Given the description of an element on the screen output the (x, y) to click on. 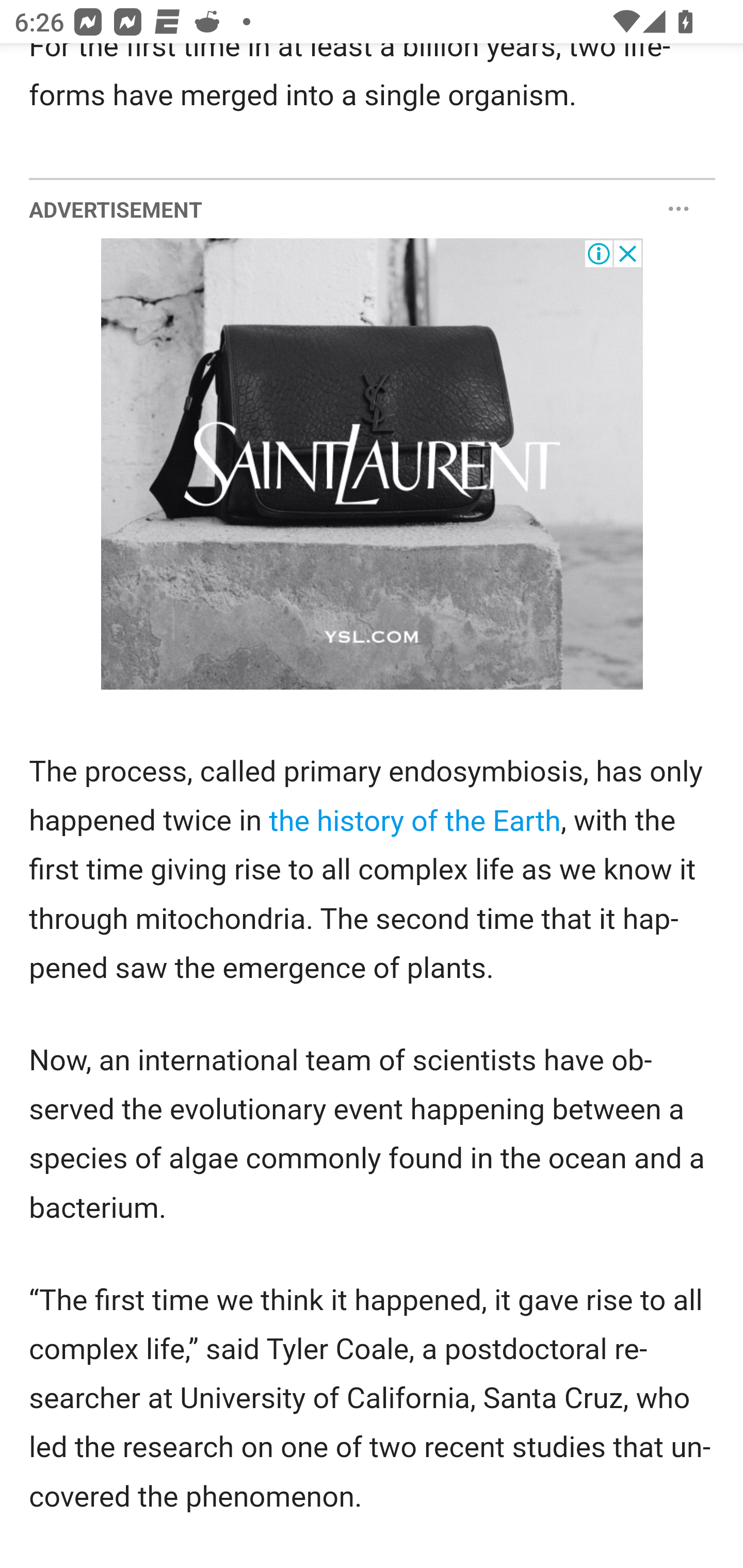
the history of the Earth (414, 821)
